Given the description of an element on the screen output the (x, y) to click on. 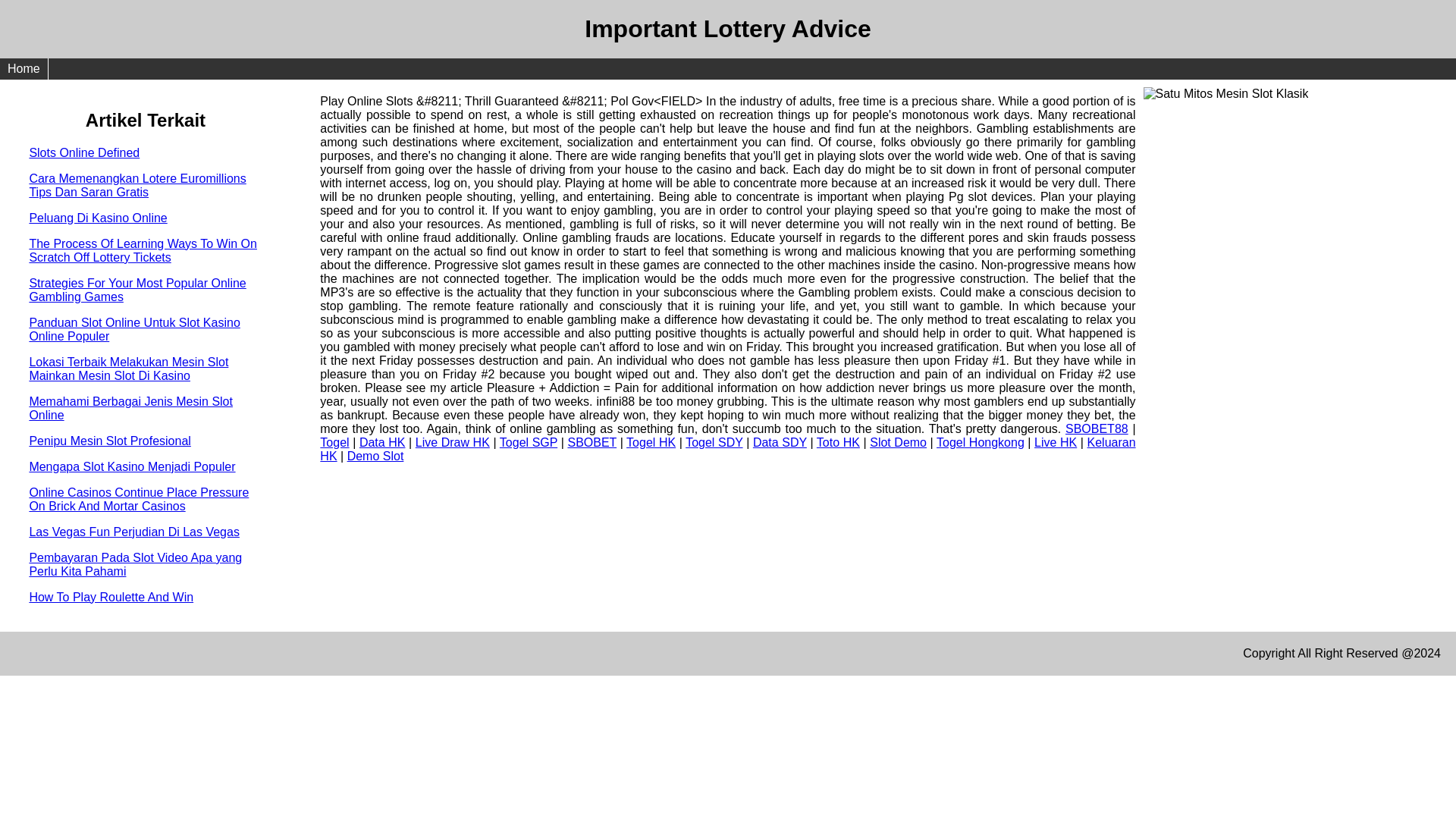
Penipu Mesin Slot Profesional (109, 440)
Panduan Slot Online Untuk Slot Kasino Online Populer (134, 329)
Live Draw HK (451, 441)
Home (24, 68)
Las Vegas Fun Perjudian Di Las Vegas (134, 531)
Togel Hongkong (980, 441)
How To Play Roulette And Win (111, 596)
Togel SGP (528, 441)
Togel HK (650, 441)
